Given the description of an element on the screen output the (x, y) to click on. 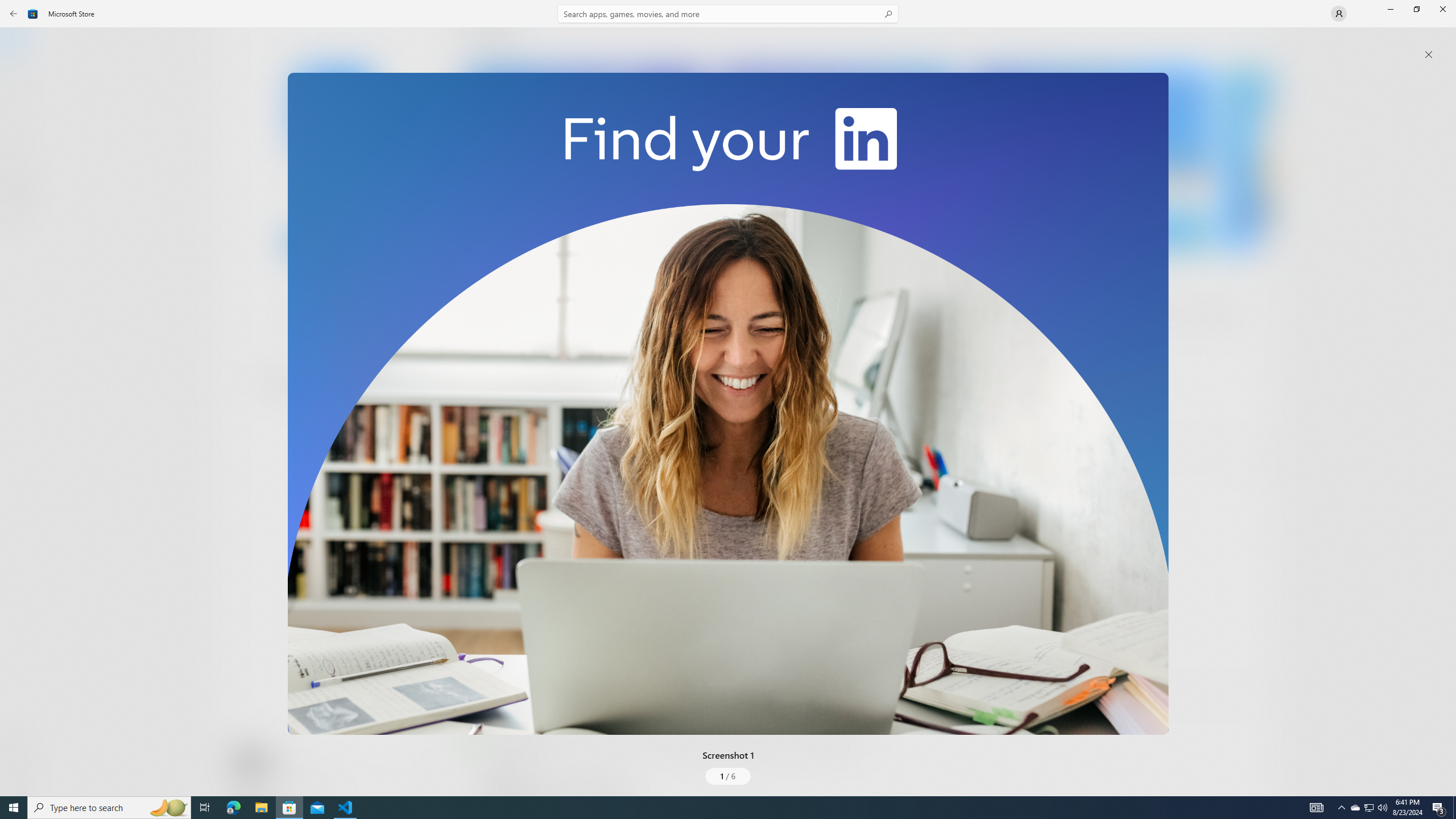
See all (1253, 41)
